Given the description of an element on the screen output the (x, y) to click on. 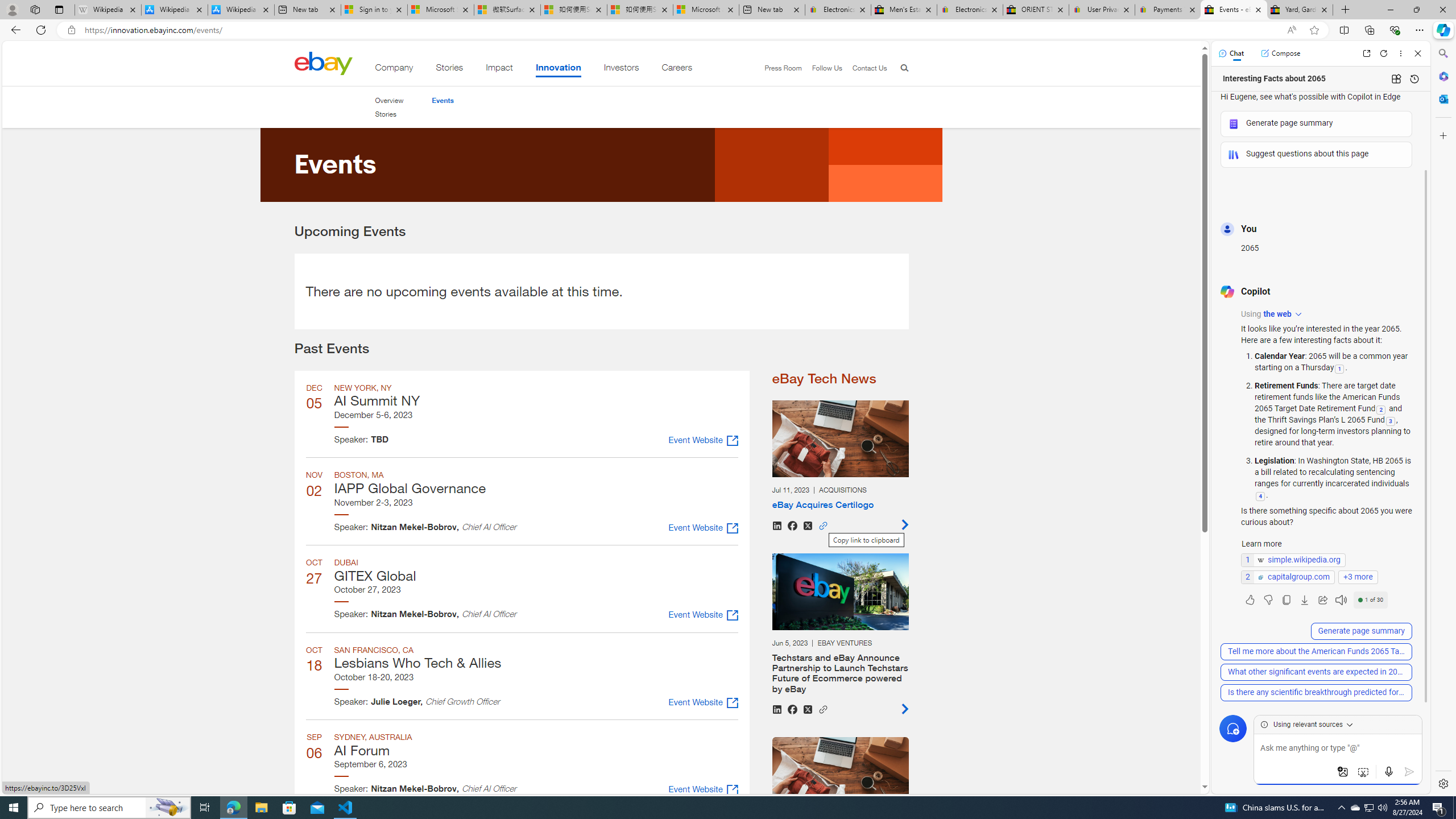
Compose (1280, 52)
